Given the description of an element on the screen output the (x, y) to click on. 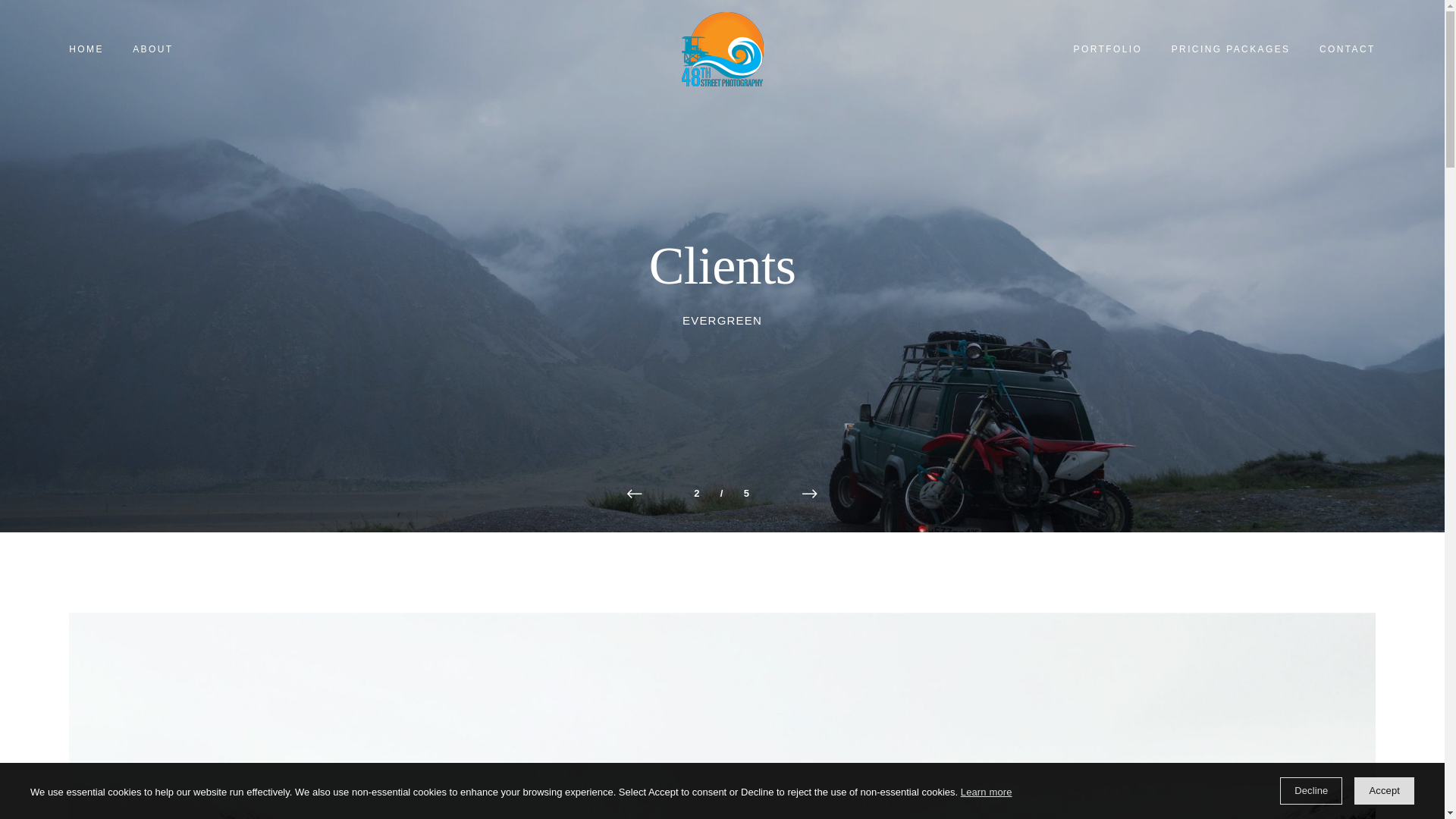
HOME (86, 49)
ABOUT (152, 49)
Decline (1310, 790)
PRICING PACKAGES (1230, 49)
Accept (1383, 790)
CONTACT (1347, 49)
PORTFOLIO (1107, 49)
Learn more (985, 791)
